Given the description of an element on the screen output the (x, y) to click on. 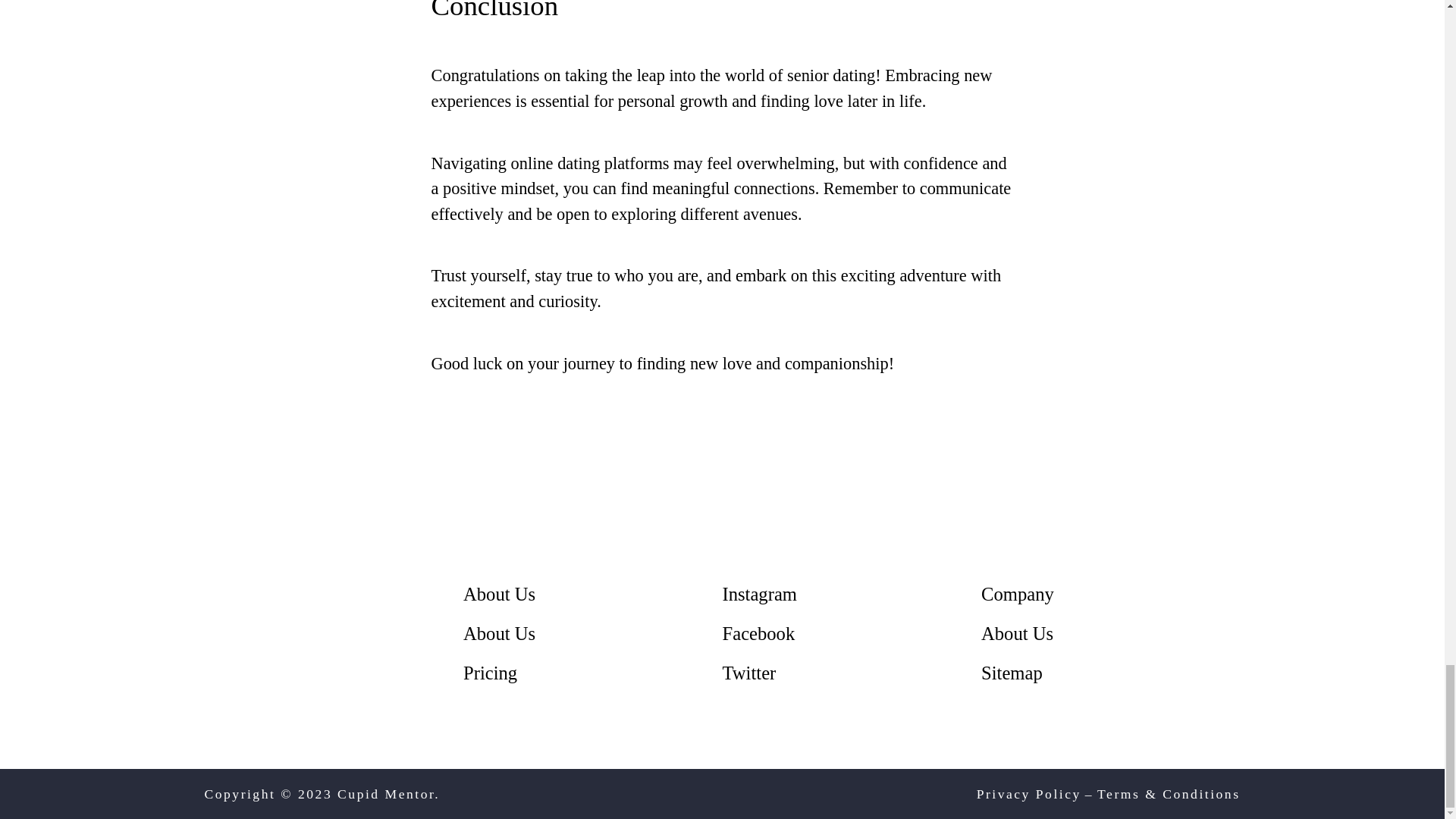
About Us (499, 593)
Sitemap (1011, 672)
Privacy Policy (1028, 793)
